Given the description of an element on the screen output the (x, y) to click on. 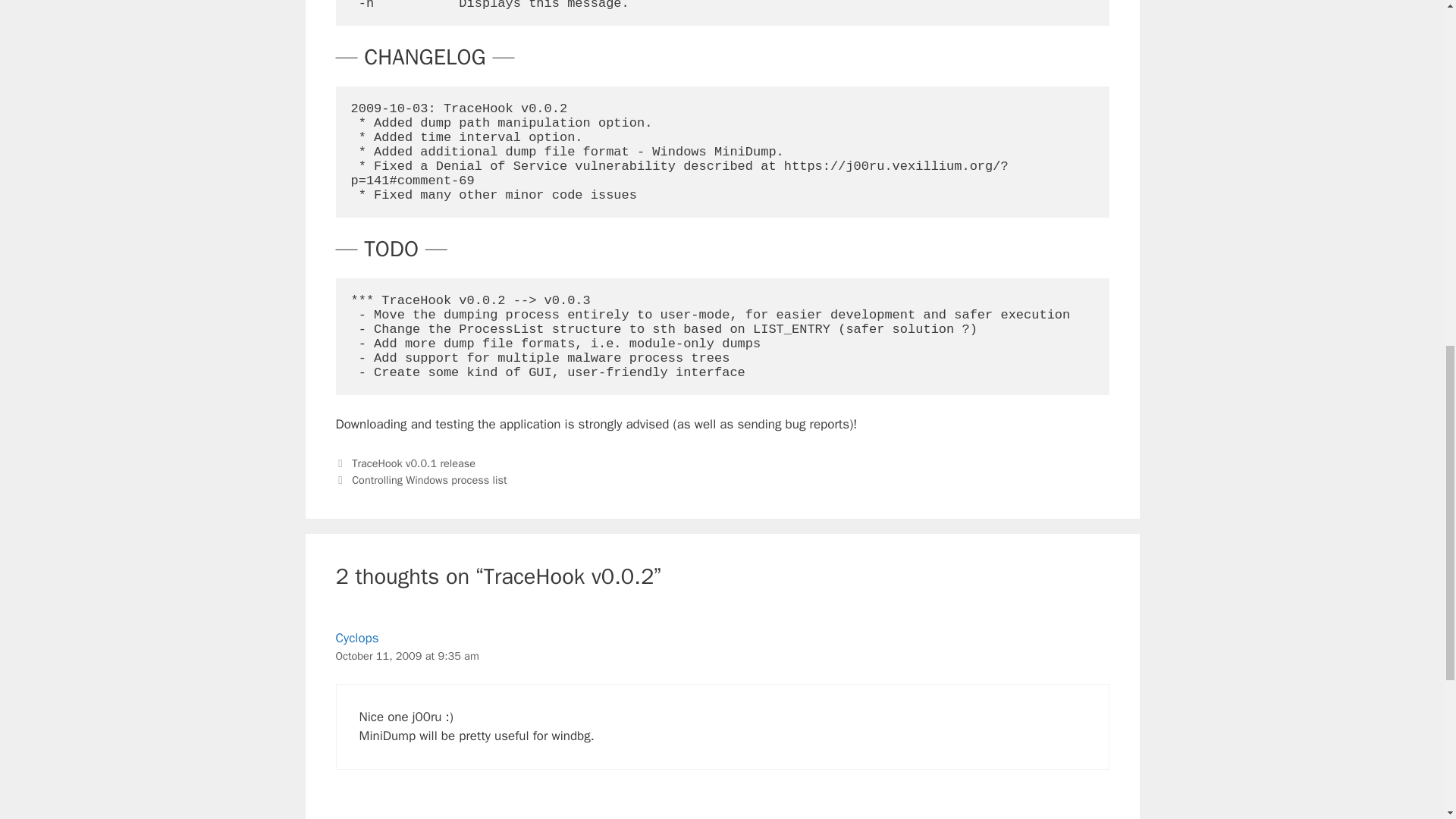
October 11, 2009 at 9:35 am (406, 655)
TraceHook v0.0.1 release (414, 463)
Cyclops (356, 637)
Malcom (356, 817)
Controlling Windows process list (429, 479)
